Given the description of an element on the screen output the (x, y) to click on. 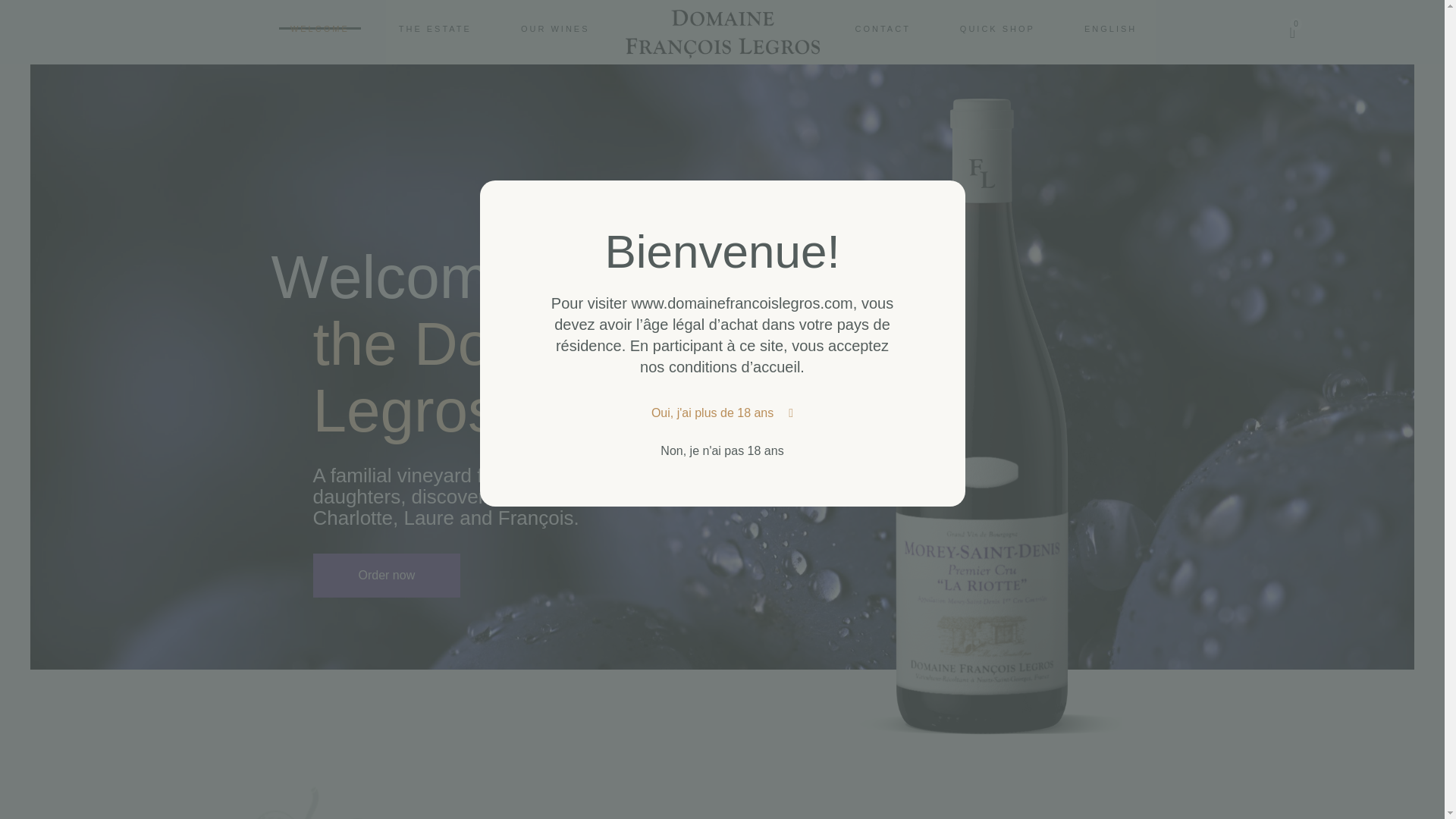
THE ESTATE (435, 27)
ENGLISH (1110, 27)
CONTACT (882, 27)
WELCOME (320, 27)
QUICK SHOP (440, 33)
OUR WINES (997, 27)
